Given the description of an element on the screen output the (x, y) to click on. 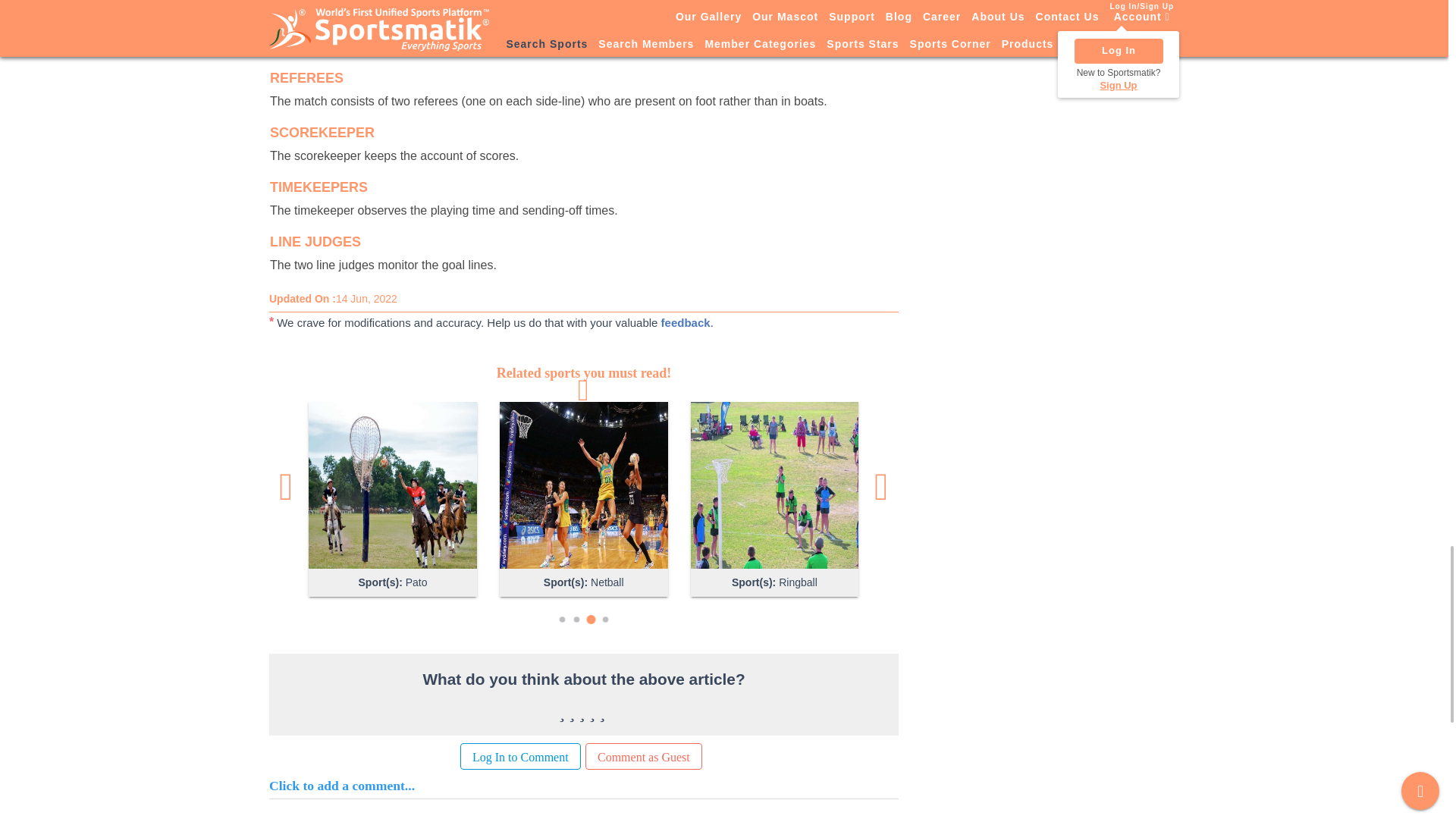
Log In to comment (520, 755)
Comment as Guest (643, 755)
